Given the description of an element on the screen output the (x, y) to click on. 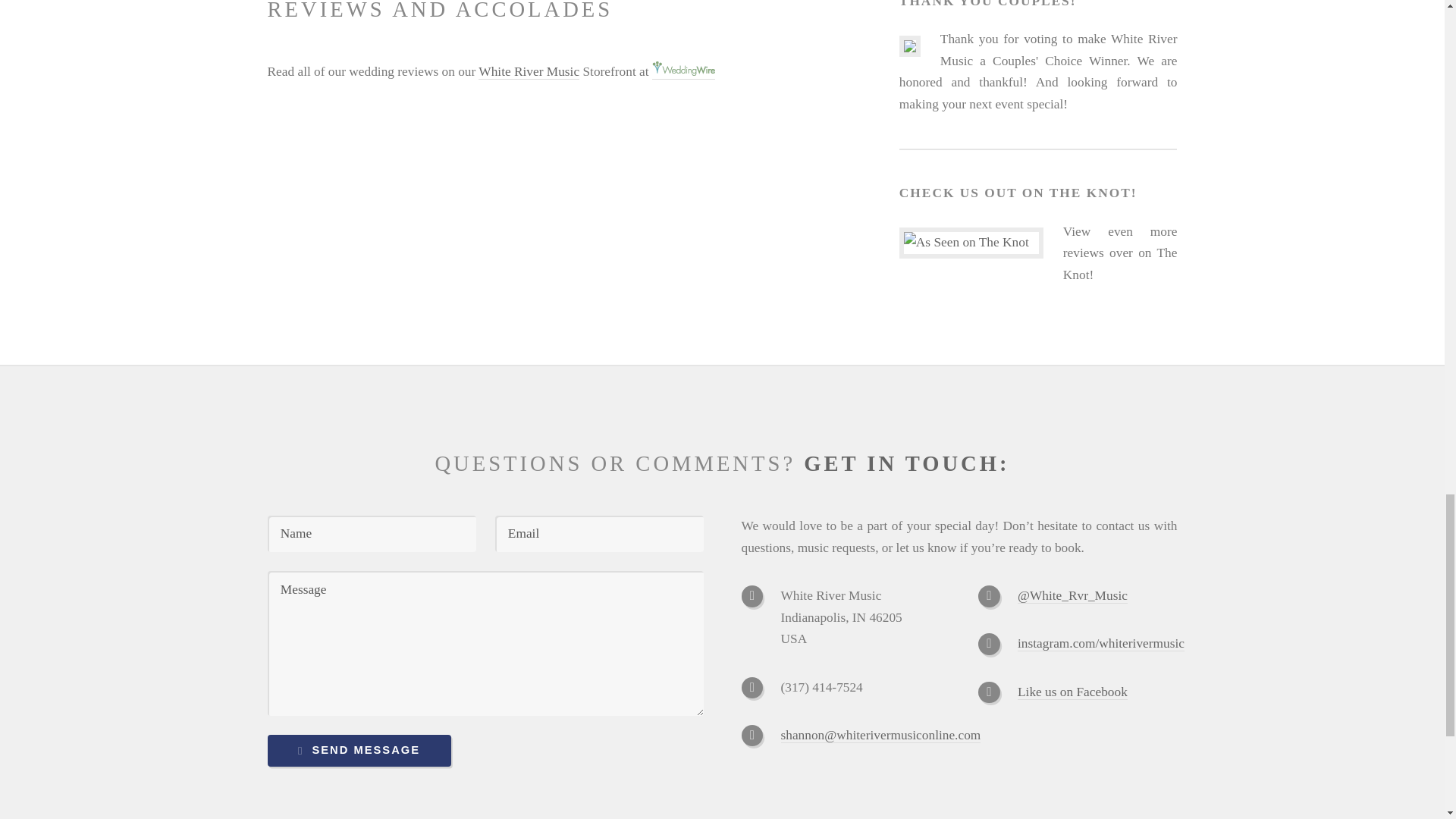
SEND MESSAGE (357, 750)
Like us on Facebook (1071, 692)
White River Music (529, 71)
